Given the description of an element on the screen output the (x, y) to click on. 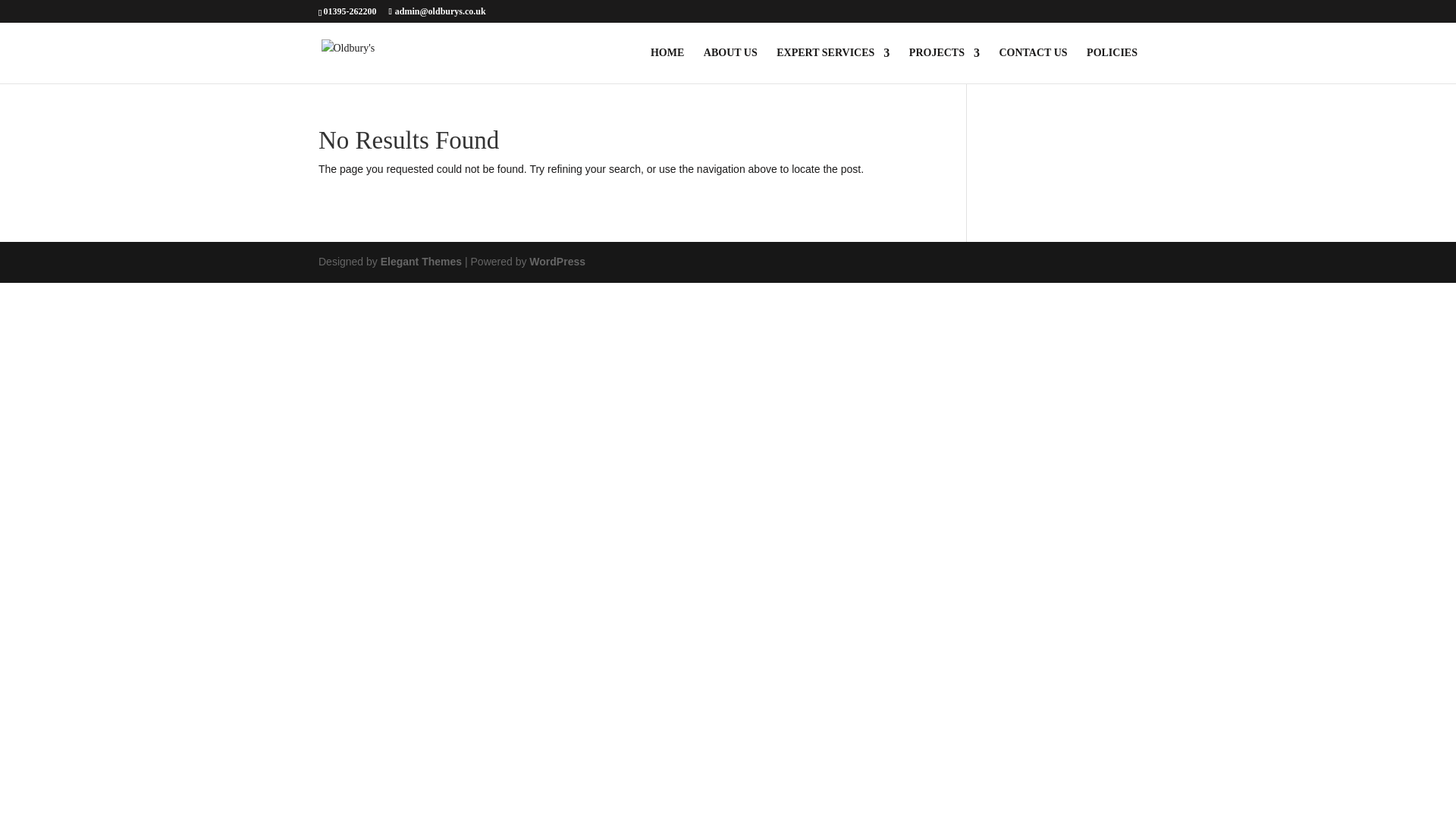
Premium WordPress Themes (420, 261)
HOME (667, 65)
PROJECTS (943, 65)
CONTACT US (1032, 65)
POLICIES (1111, 65)
ABOUT US (730, 65)
WordPress (557, 261)
01395-262200 (349, 10)
Elegant Themes (420, 261)
EXPERT SERVICES (832, 65)
